Given the description of an element on the screen output the (x, y) to click on. 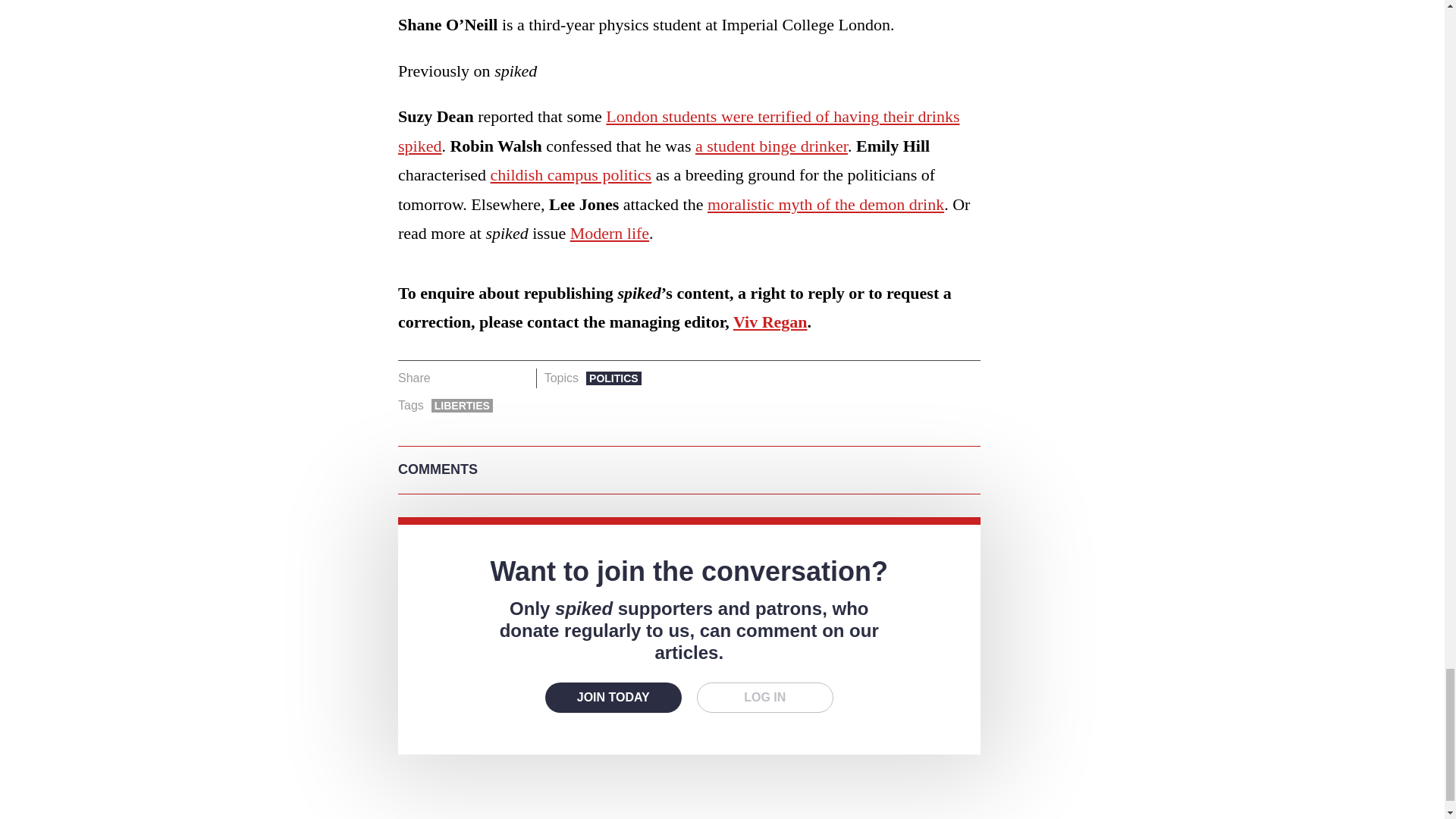
Share on Facebook (448, 378)
Share on Twitter (471, 378)
Share on Whatsapp (494, 378)
Share on Email (518, 378)
